Given the description of an element on the screen output the (x, y) to click on. 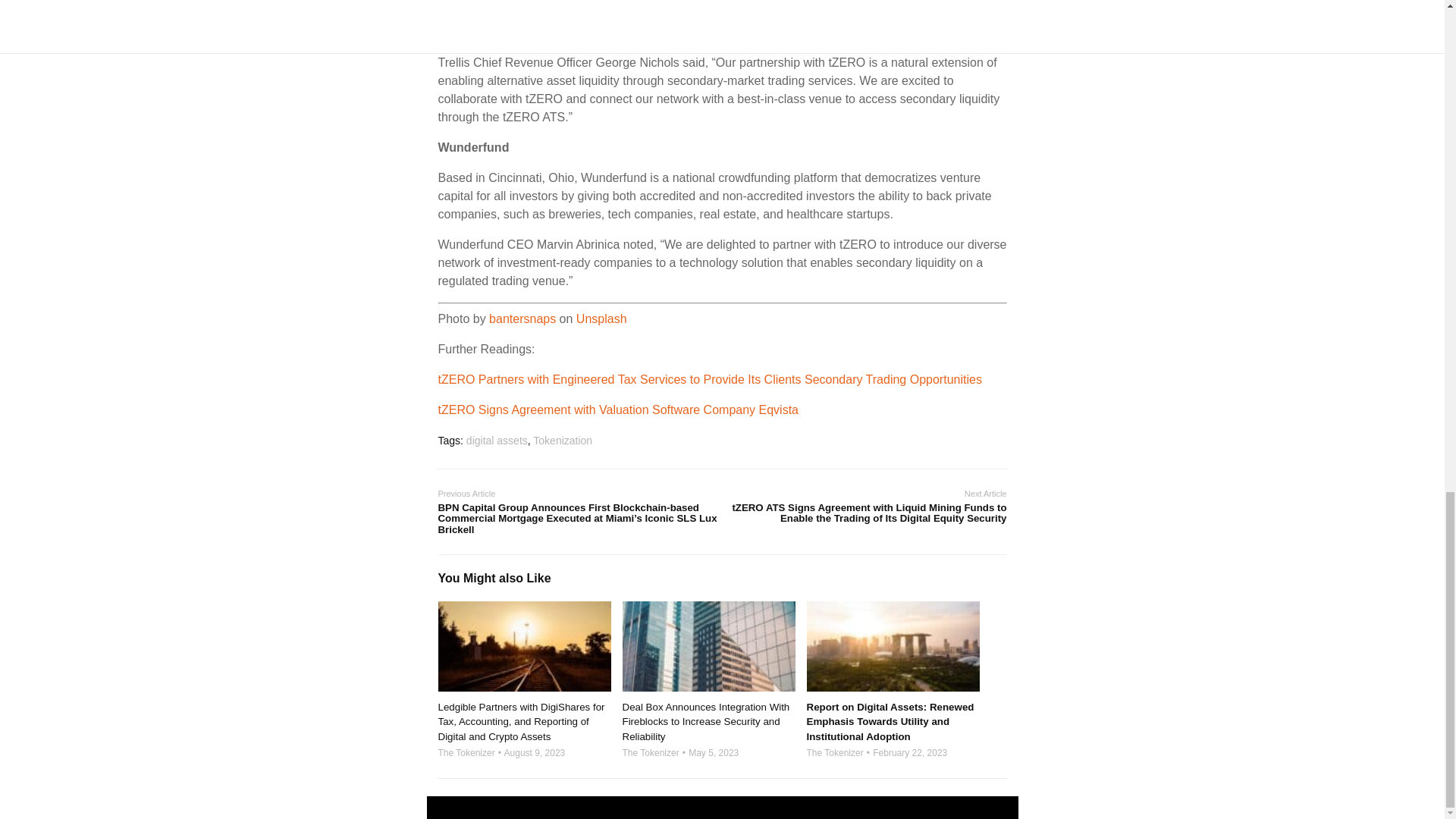
digital assets (496, 440)
The Tokenizer (649, 752)
The Tokenizer (466, 752)
Tokenization (562, 440)
bantersnaps (522, 318)
